Given the description of an element on the screen output the (x, y) to click on. 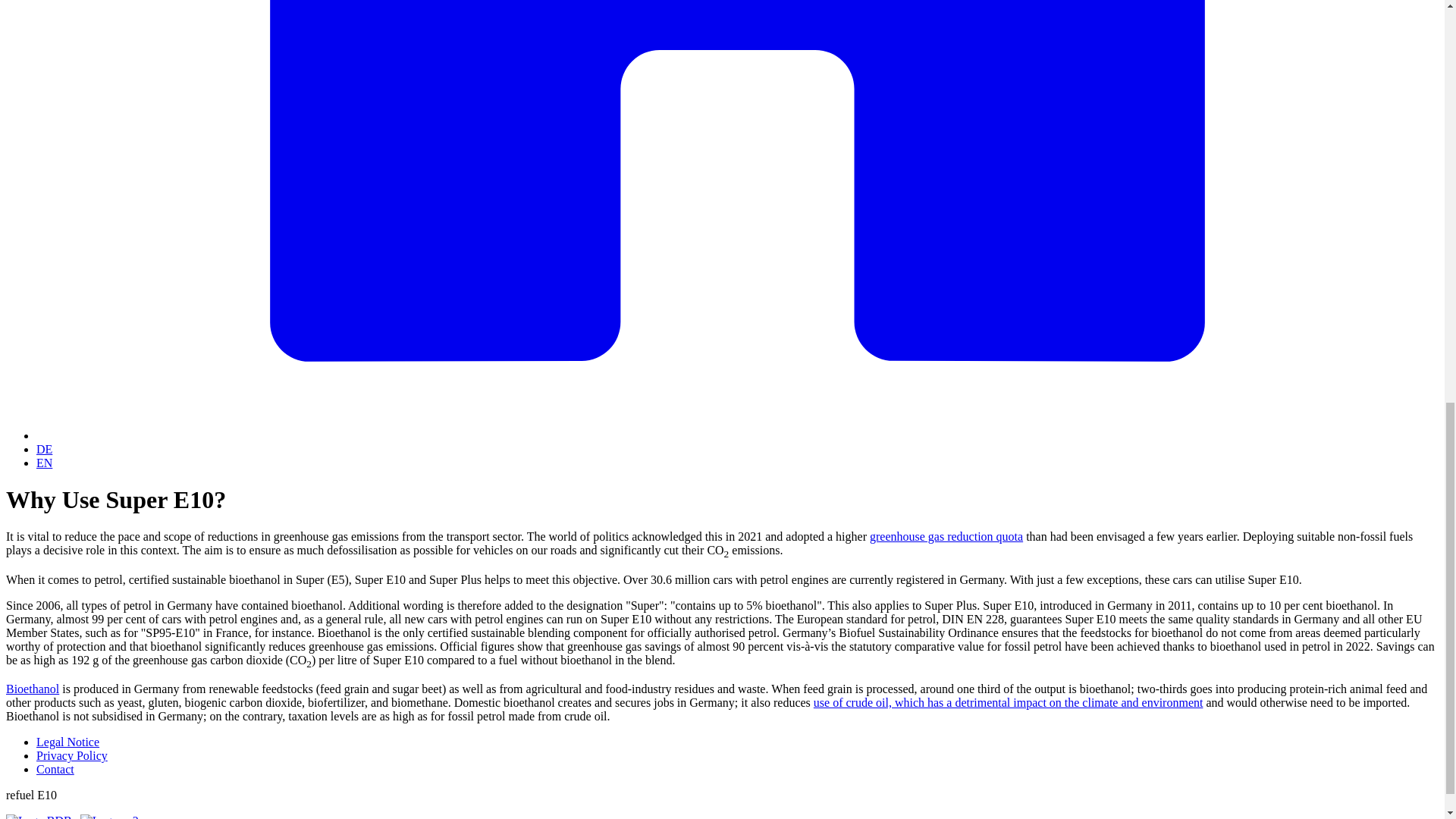
Legal Notice (67, 741)
DE (44, 449)
Contact (55, 768)
EN (44, 462)
greenhouse gas reduction quota (946, 535)
Bioethanol (32, 688)
Privacy Policy (71, 755)
